Given the description of an element on the screen output the (x, y) to click on. 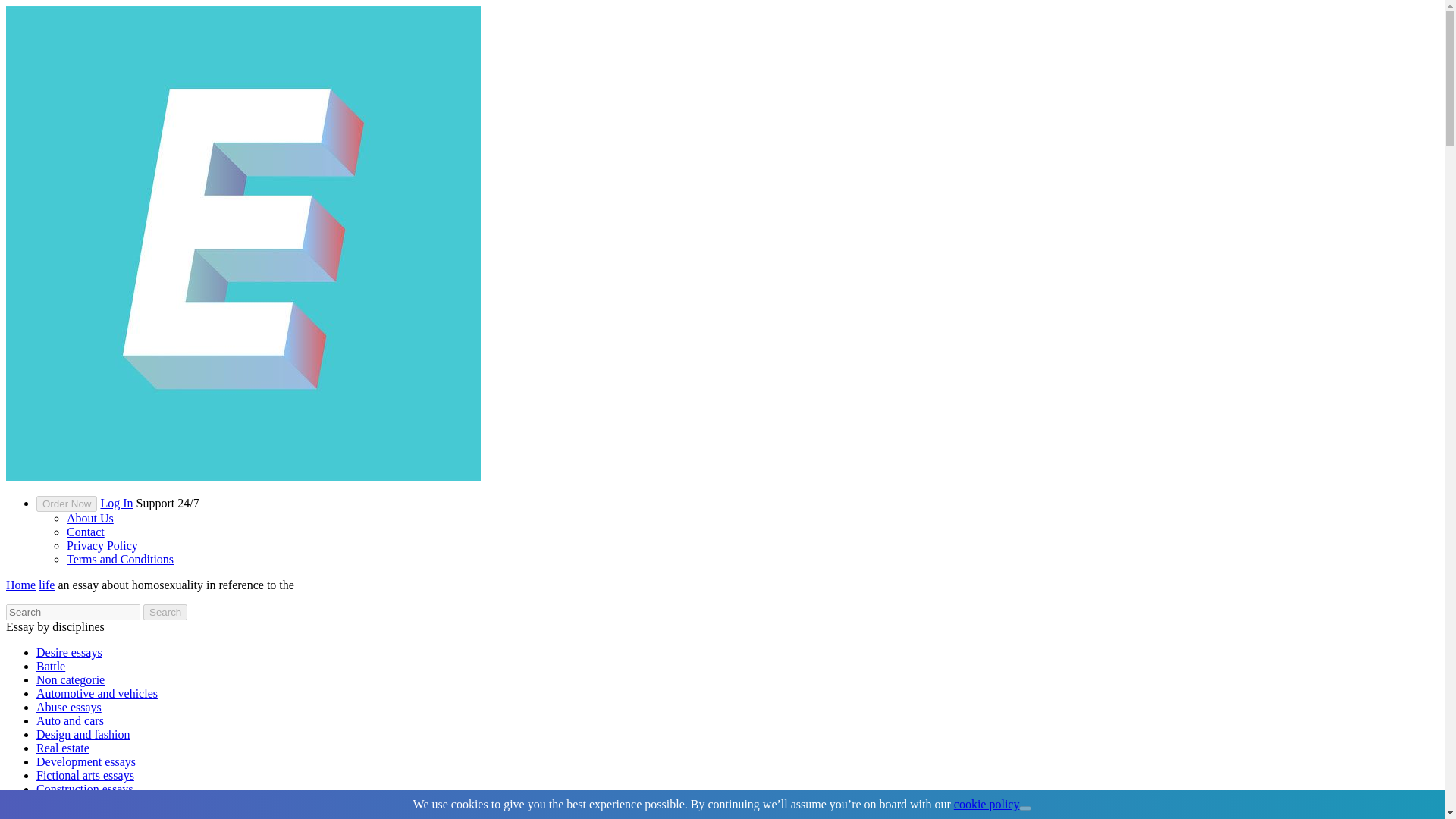
Desire essays (68, 652)
Home (19, 584)
Abuse essays (68, 707)
Fictional arts essays (84, 775)
Contact (85, 531)
Privacy Policy (102, 545)
Real estate (62, 748)
Development essays (85, 761)
cookie policy (986, 803)
Non categorie (70, 679)
